Given the description of an element on the screen output the (x, y) to click on. 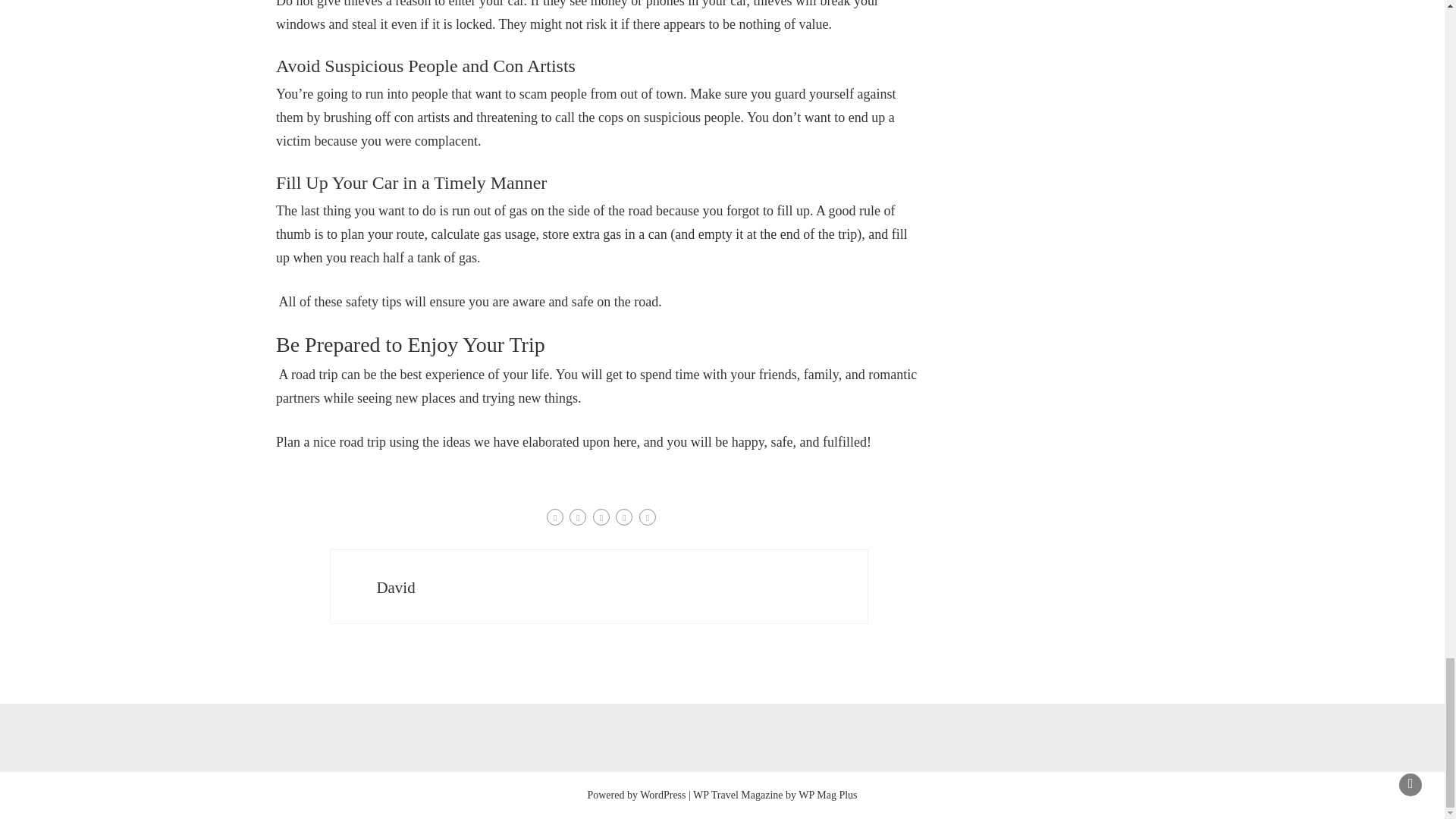
WP Travel Magazine by WP Mag Plus (775, 794)
WordPress (662, 794)
David (394, 587)
